Given the description of an element on the screen output the (x, y) to click on. 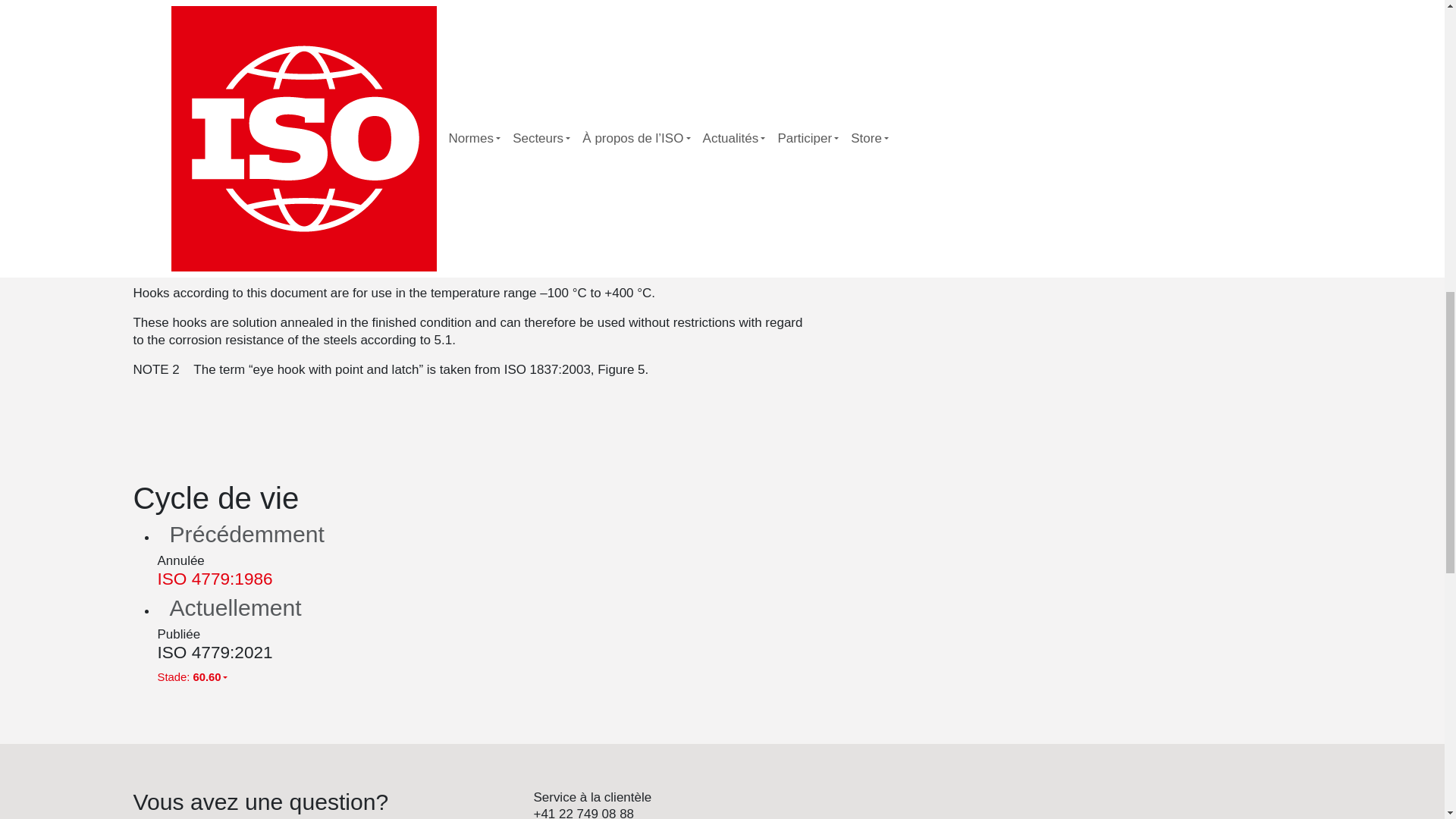
Composants et accessoires (1008, 186)
60.60 (1153, 116)
53.020.30 (986, 220)
RSS (973, 237)
60.60 (1153, 116)
